Given the description of an element on the screen output the (x, y) to click on. 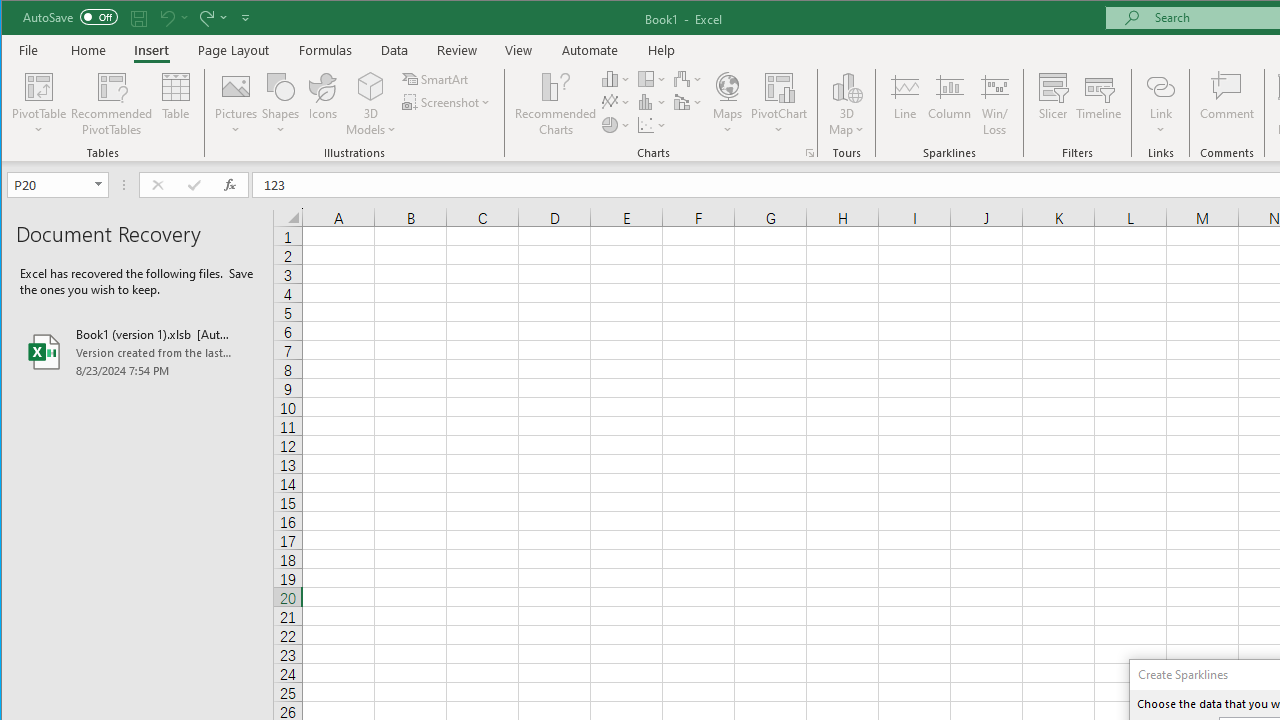
Book1 (version 1).xlsb  [AutoRecovered] (137, 352)
Insert Column or Bar Chart (616, 78)
Insert Hierarchy Chart (652, 78)
File Tab (29, 49)
Link (1160, 86)
3D Map (846, 104)
More Options (1160, 123)
Comment (1227, 104)
SmartArt... (436, 78)
3D Models (371, 104)
Maps (727, 104)
Screenshot (447, 101)
